Given the description of an element on the screen output the (x, y) to click on. 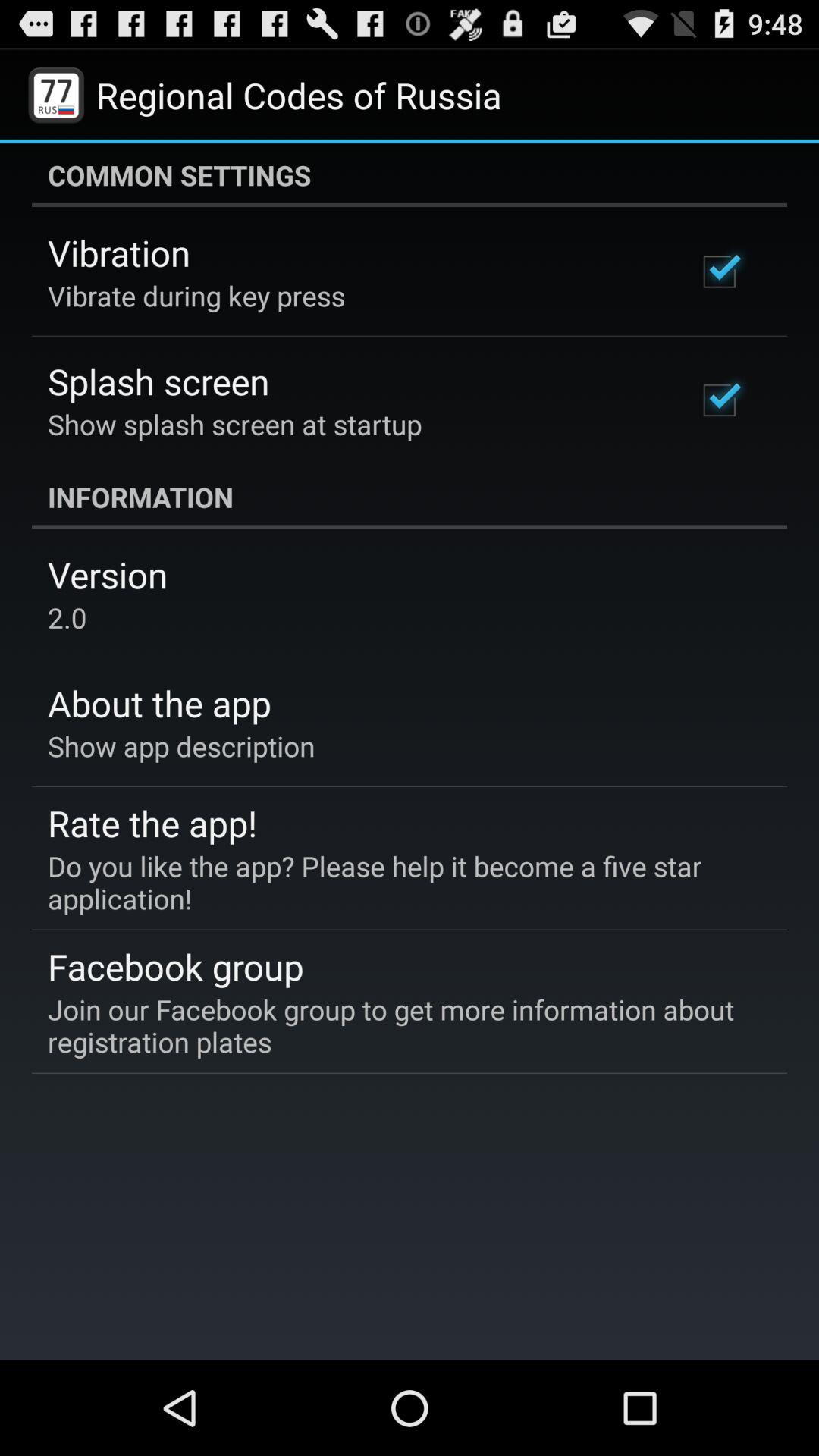
open item below rate the app! item (399, 882)
